Given the description of an element on the screen output the (x, y) to click on. 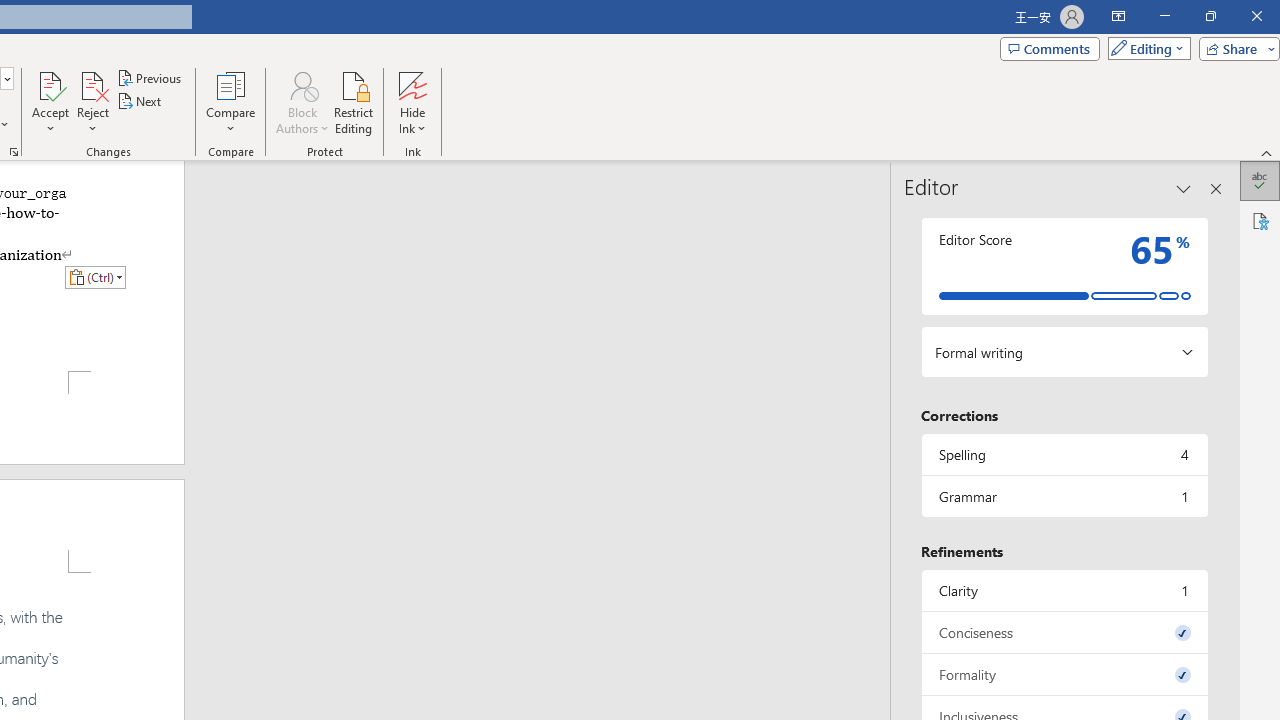
Previous (150, 78)
Formality, 0 issues. Press space or enter to review items. (1064, 673)
Compare (230, 102)
Editor Score 65% (1064, 266)
Grammar, 1 issue. Press space or enter to review items. (1064, 495)
Conciseness, 0 issues. Press space or enter to review items. (1064, 632)
Clarity, 1 issue. Press space or enter to review items. (1064, 590)
Accept and Move to Next (50, 84)
Accessibility (1260, 220)
Spelling, 4 issues. Press space or enter to review items. (1064, 454)
Next (140, 101)
Block Authors (302, 84)
